Given the description of an element on the screen output the (x, y) to click on. 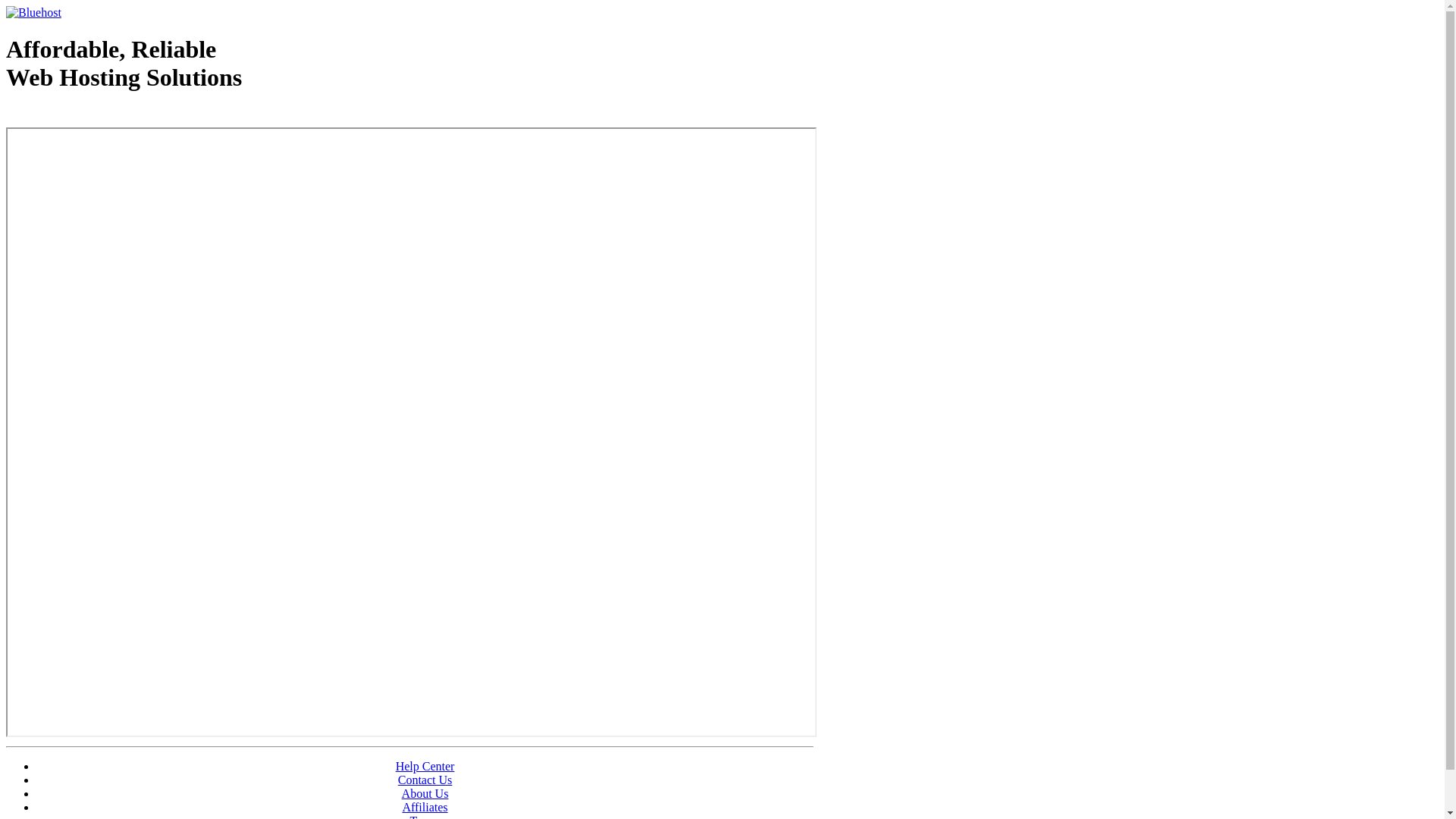
Help Center Element type: text (425, 765)
Contact Us Element type: text (425, 779)
Web Hosting - courtesy of www.bluehost.com Element type: text (94, 115)
About Us Element type: text (424, 793)
Affiliates Element type: text (424, 806)
